Given the description of an element on the screen output the (x, y) to click on. 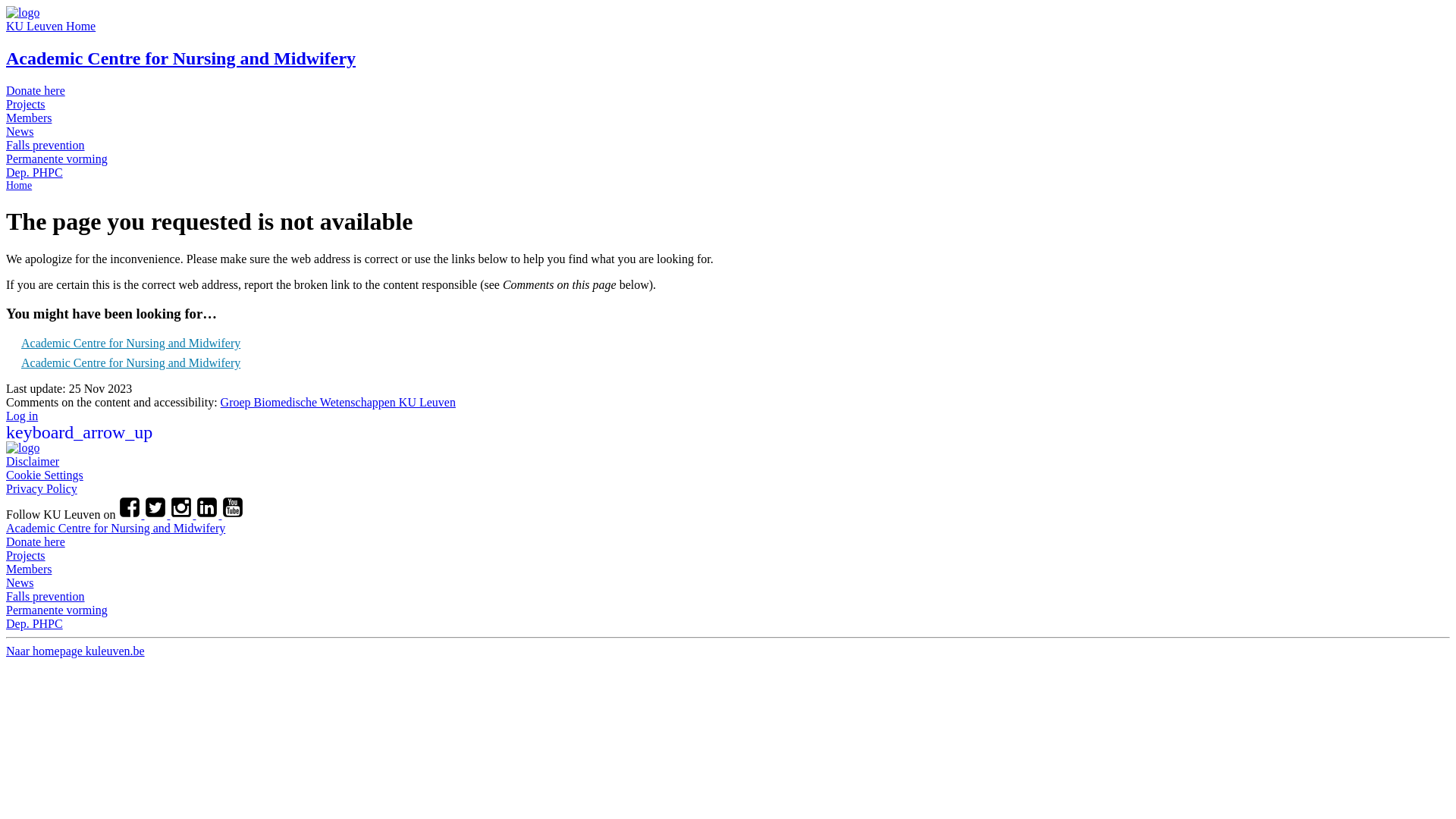
linkedin Element type: text (208, 514)
instagram Element type: text (182, 514)
youtube Element type: text (232, 514)
twitter Element type: text (156, 514)
Groep Biomedische Wetenschappen KU Leuven Element type: text (337, 401)
Academic Centre for Nursing and Midwifery Element type: text (130, 342)
Projects Element type: text (25, 555)
Academic Centre for Nursing and Midwifery Element type: text (130, 362)
Disclaimer Element type: text (32, 461)
Home Element type: text (18, 185)
Naar homepage kuleuven.be Element type: text (75, 650)
Academic Centre for Nursing and Midwifery Element type: text (180, 58)
News Element type: text (19, 582)
Donate here Element type: text (35, 90)
KU Leuven Home Element type: text (50, 25)
KU Leuven Element type: hover (22, 447)
Falls prevention Element type: text (45, 595)
Members Element type: text (28, 117)
Log in Element type: text (21, 415)
facebook Element type: text (131, 514)
Academic Centre for Nursing and Midwifery Element type: text (115, 527)
Cookie Settings Element type: text (44, 474)
keyboard_arrow_up Element type: text (79, 433)
Donate here Element type: text (35, 541)
Members Element type: text (28, 568)
Dep. PHPC Element type: text (34, 623)
News Element type: text (19, 131)
Projects Element type: text (25, 103)
Permanente vorming Element type: text (56, 158)
Dep. PHPC Element type: text (34, 172)
Privacy Policy Element type: text (41, 488)
Falls prevention Element type: text (45, 144)
Permanente vorming Element type: text (56, 609)
